Given the description of an element on the screen output the (x, y) to click on. 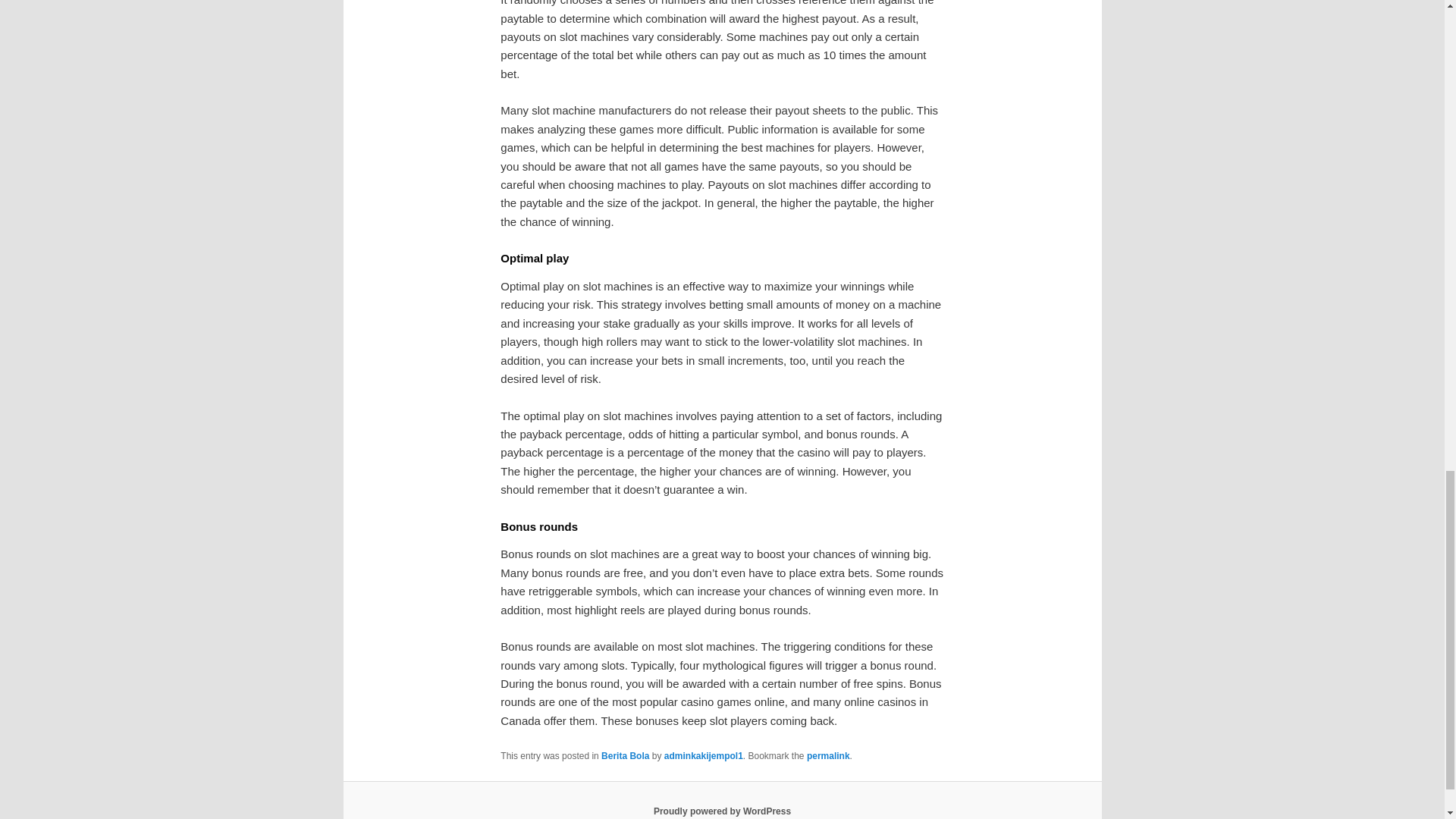
Proudly powered by WordPress (721, 810)
permalink (828, 756)
Permalink to Slots Scheduling Tips For Health Care Providers (828, 756)
Semantic Personal Publishing Platform (721, 810)
Berita Bola (625, 756)
adminkakijempol1 (702, 756)
